Given the description of an element on the screen output the (x, y) to click on. 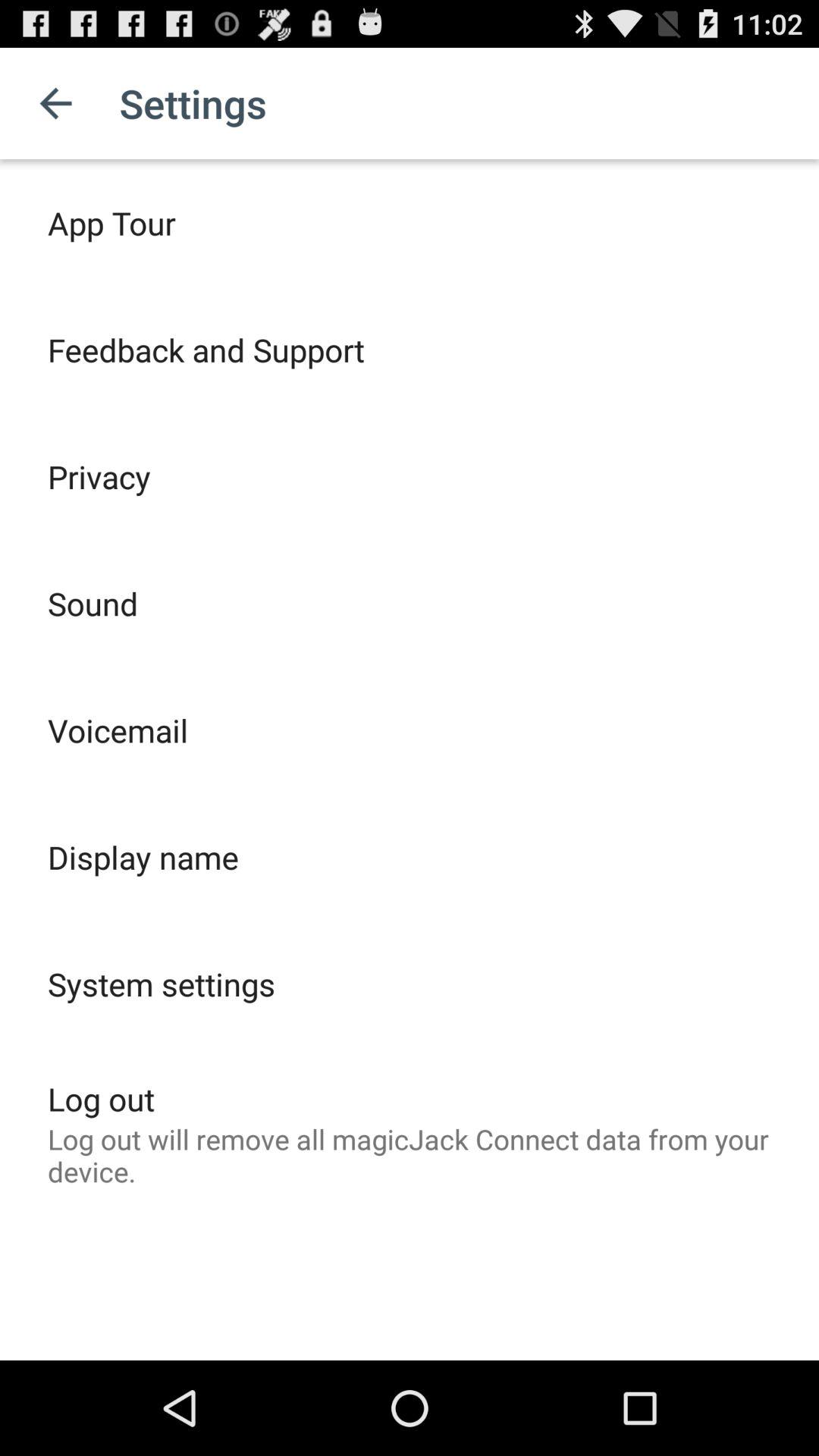
turn off app below display name icon (161, 983)
